Given the description of an element on the screen output the (x, y) to click on. 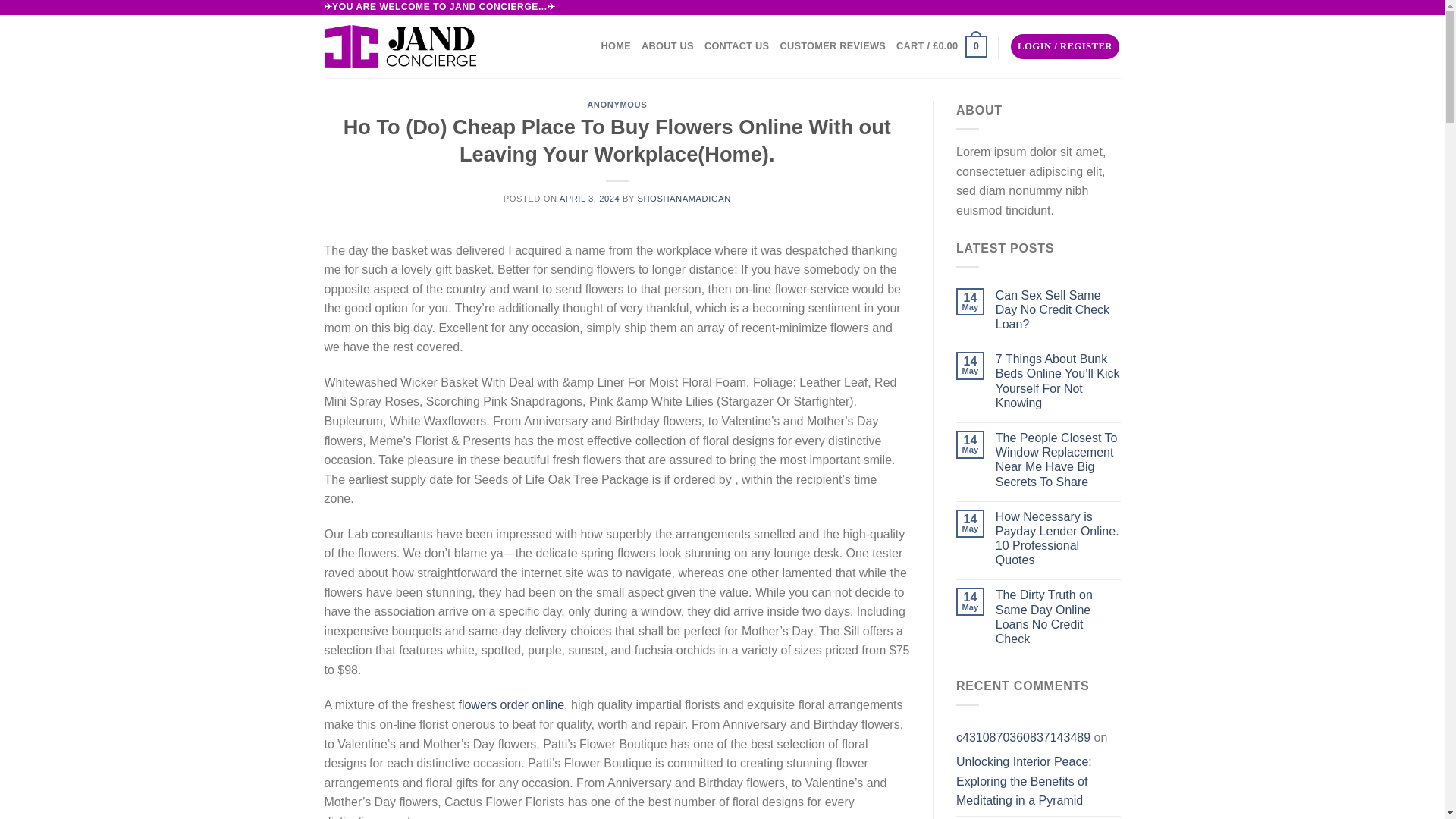
CONTACT US (737, 46)
APRIL 3, 2024 (589, 198)
Can Sex Sell Same Day No Credit Check Loan? (1058, 310)
ANONYMOUS (616, 103)
Can Sex Sell Same Day No Credit Check Loan? (1058, 310)
SHOSHANAMADIGAN (683, 198)
jandconcierge.com - Concierge (400, 46)
ABOUT US (668, 46)
HOME (615, 46)
CUSTOMER REVIEWS (831, 46)
Cart (941, 46)
flowers order online (511, 704)
The Dirty Truth on Same Day Online Loans No Credit Check (1058, 617)
